Given the description of an element on the screen output the (x, y) to click on. 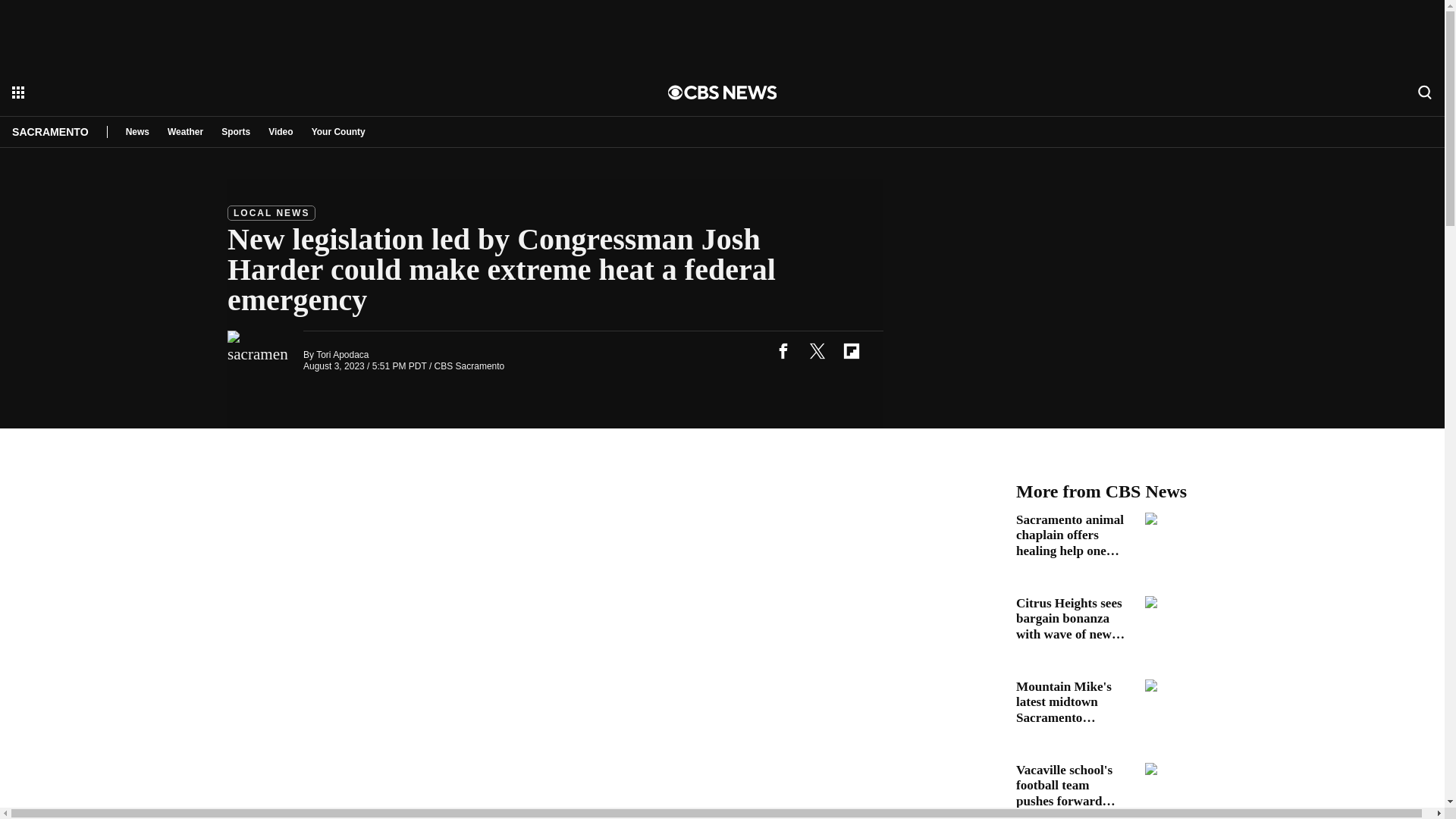
flipboard (850, 350)
twitter (816, 350)
facebook (782, 350)
